Given the description of an element on the screen output the (x, y) to click on. 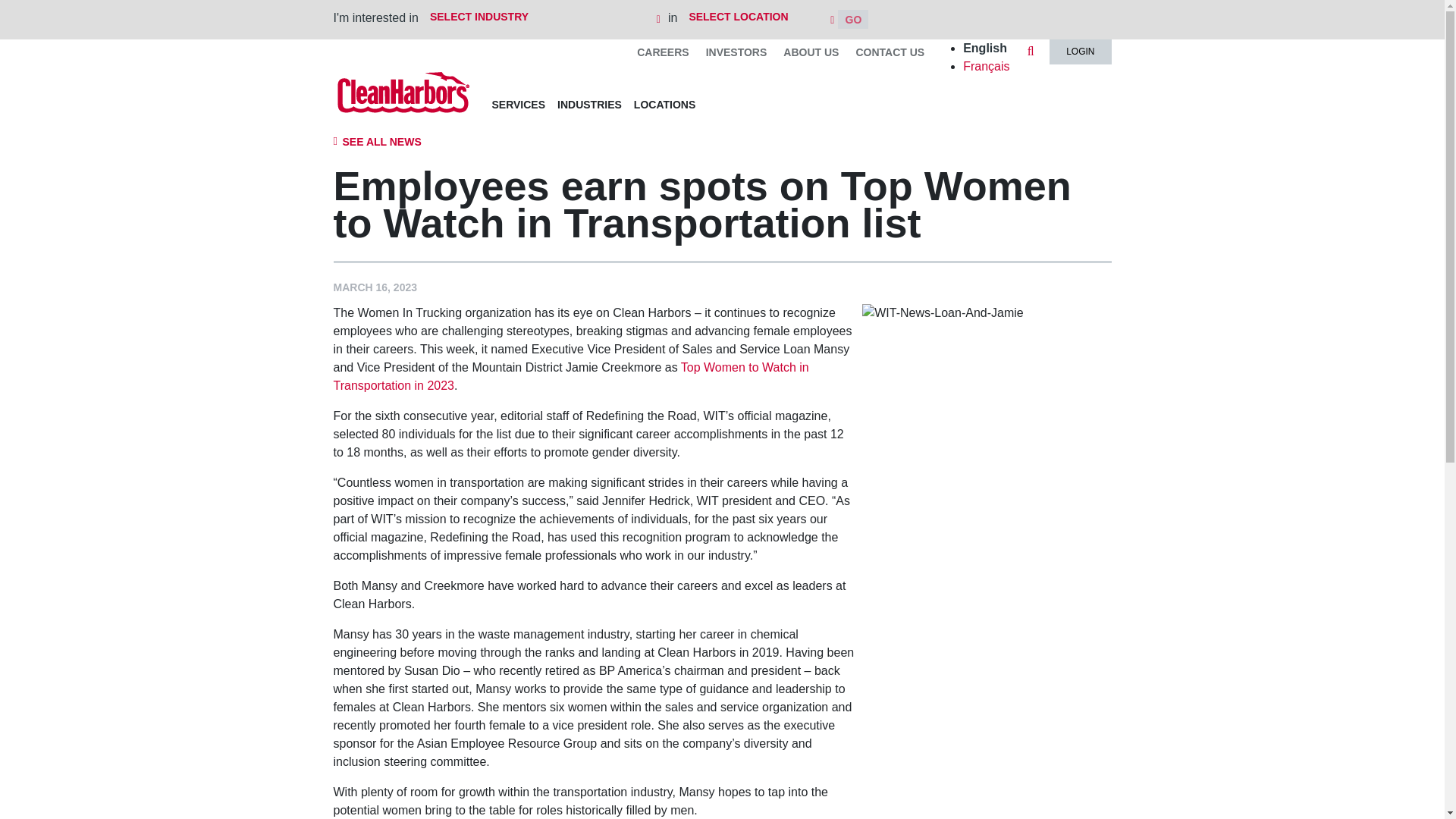
Thursday, March 16, 2023 - 15:02 (375, 287)
Home (403, 91)
Skip to main content (721, 1)
GO (852, 18)
